Given the description of an element on the screen output the (x, y) to click on. 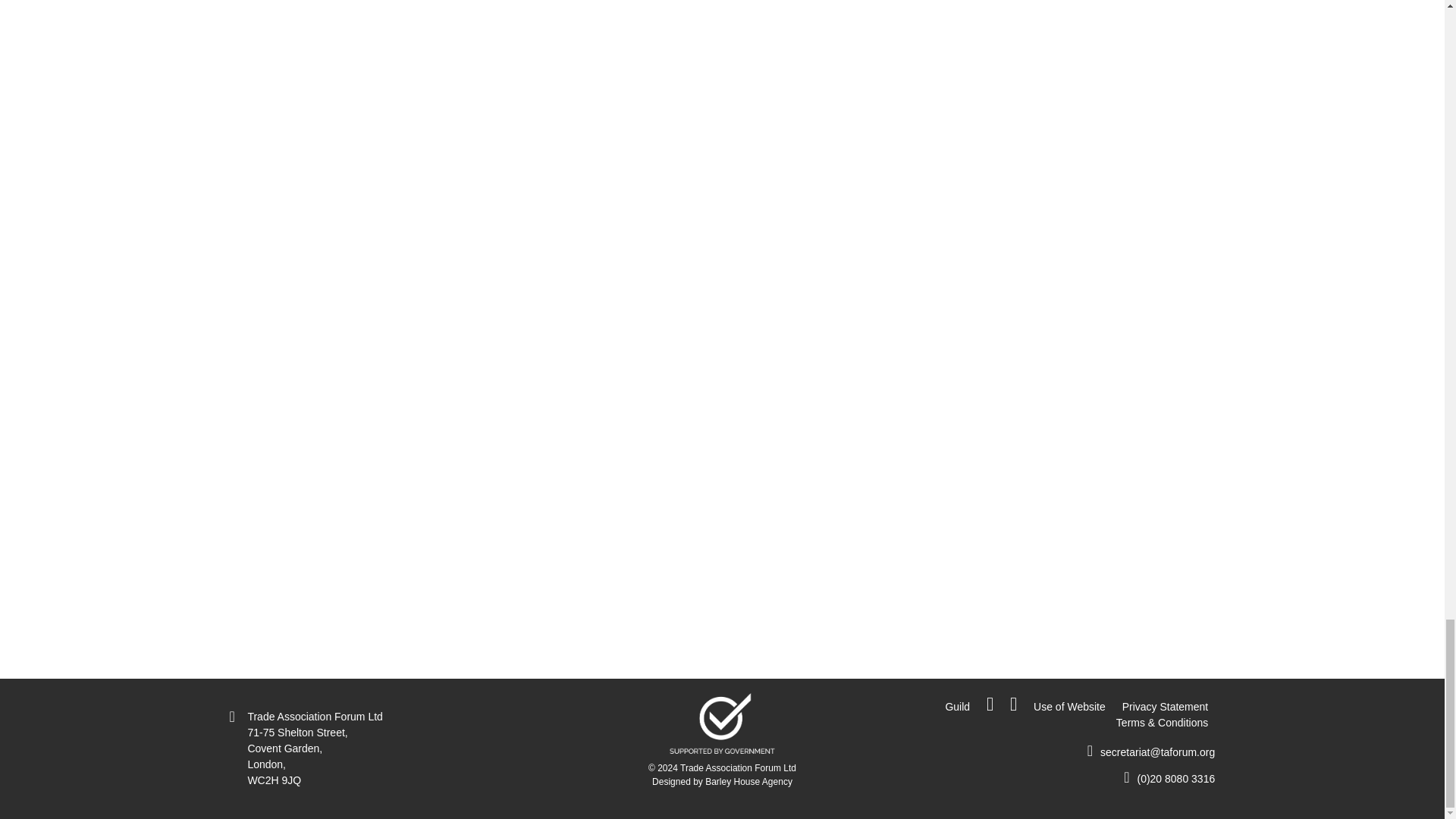
Use of Website (1069, 706)
Guild (956, 706)
Privacy Statement (1165, 706)
Barley House Agency (748, 781)
